Given the description of an element on the screen output the (x, y) to click on. 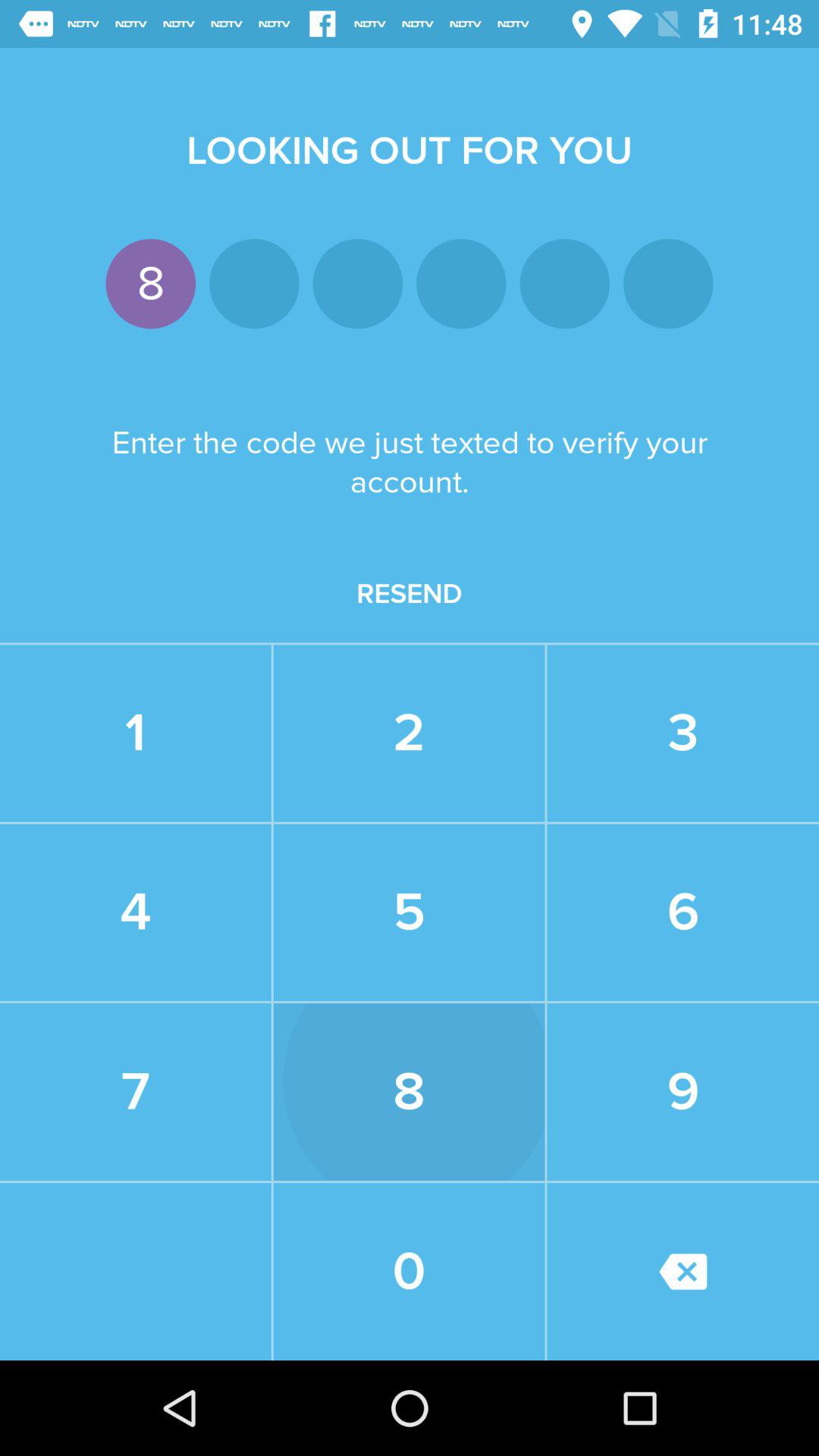
jump to 0 (408, 1271)
